Given the description of an element on the screen output the (x, y) to click on. 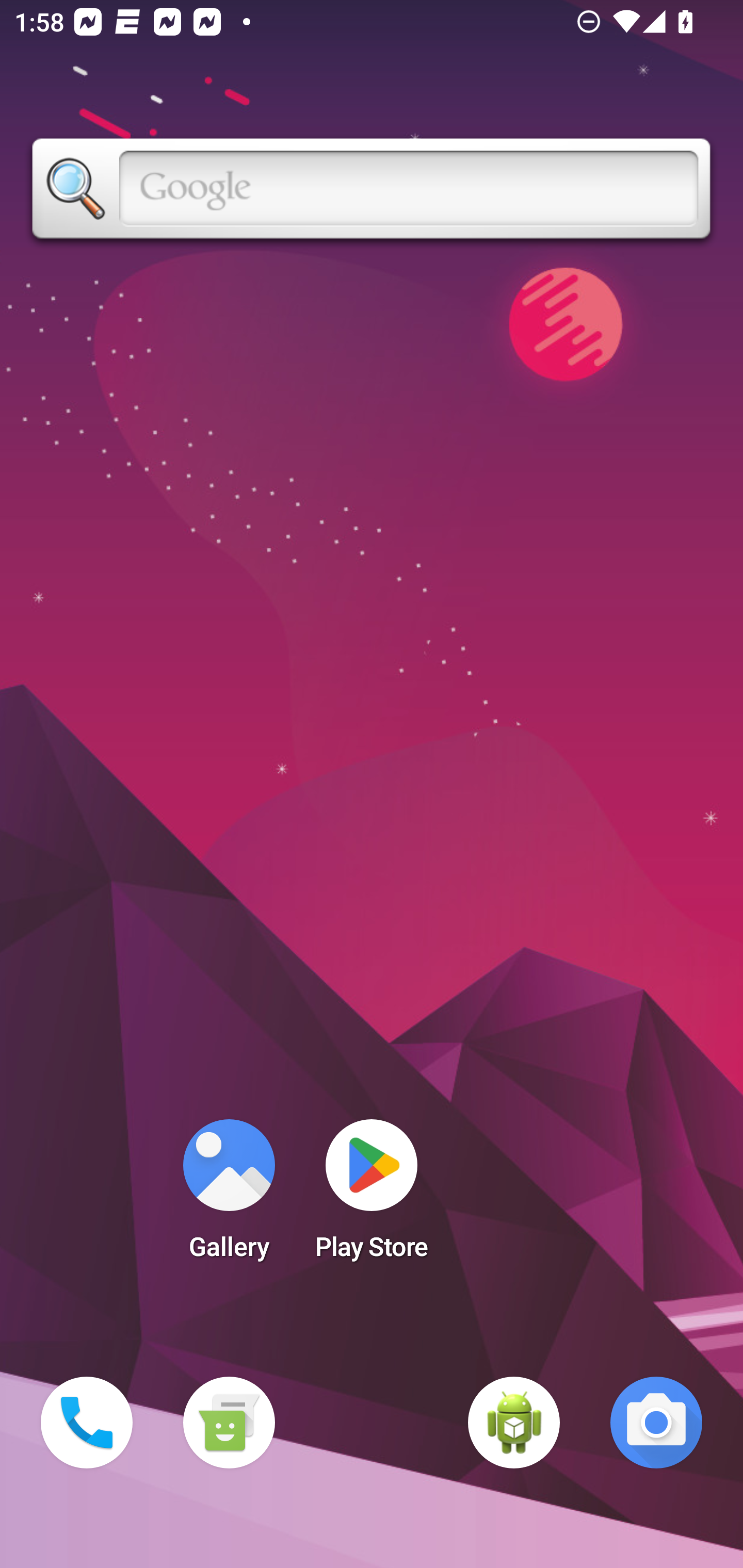
Gallery (228, 1195)
Play Store (371, 1195)
Phone (86, 1422)
Messaging (228, 1422)
WebView Browser Tester (513, 1422)
Camera (656, 1422)
